Given the description of an element on the screen output the (x, y) to click on. 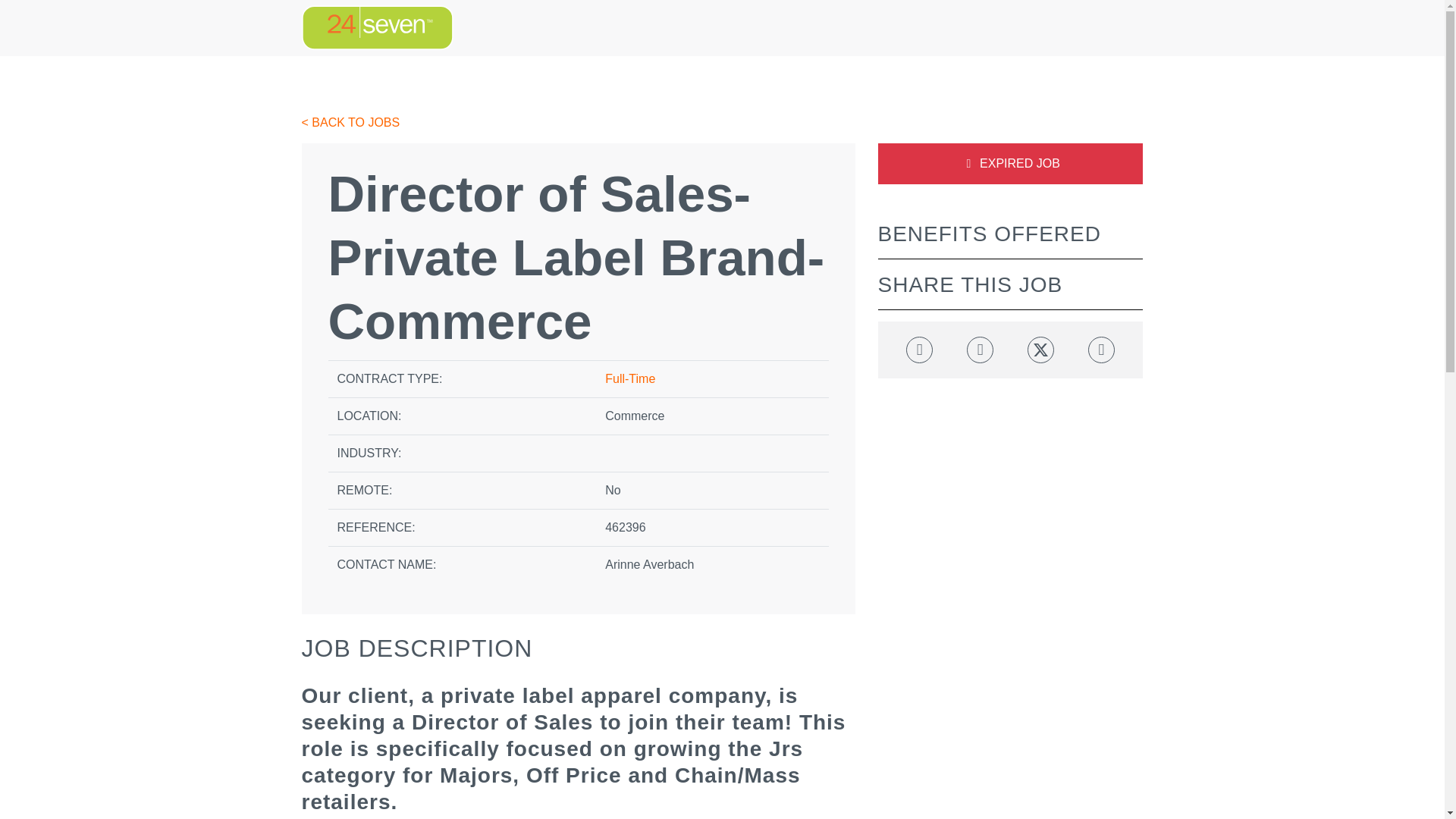
BENEFITS OFFERED (988, 233)
24 Seven (376, 27)
Email (1101, 349)
Facebook (919, 349)
Full-Time (630, 378)
24 Seven (376, 27)
Twitter (1040, 349)
24 Seven Talent (376, 27)
LinkedIn (979, 349)
